Given the description of an element on the screen output the (x, y) to click on. 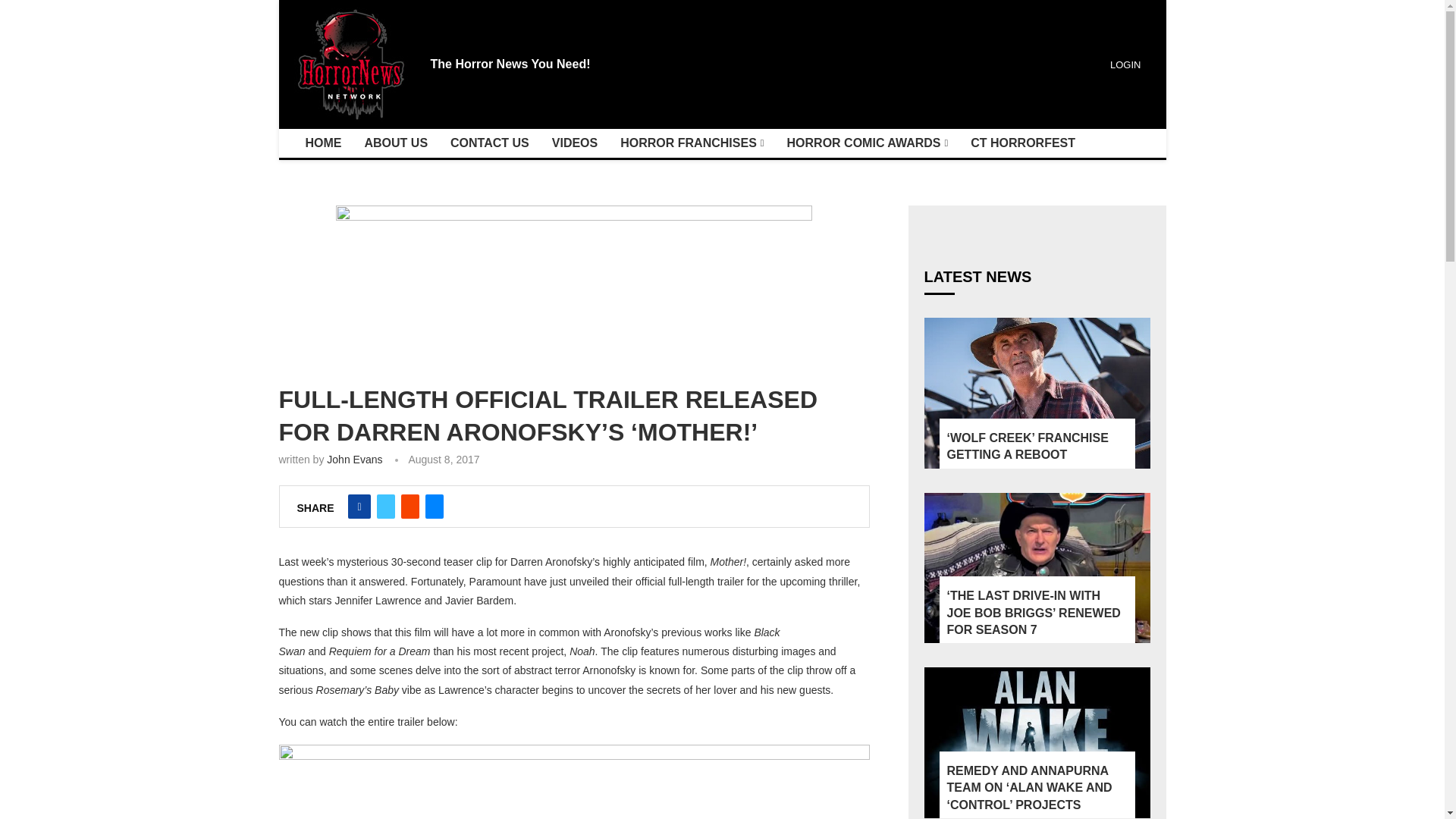
mother 2 (574, 284)
HORROR FRANCHISES (691, 143)
LOGIN (1123, 64)
VIDEOS (574, 143)
ABOUT US (396, 143)
The Horror News You Need! (510, 63)
HOME (323, 143)
CONTACT US (489, 143)
